Given the description of an element on the screen output the (x, y) to click on. 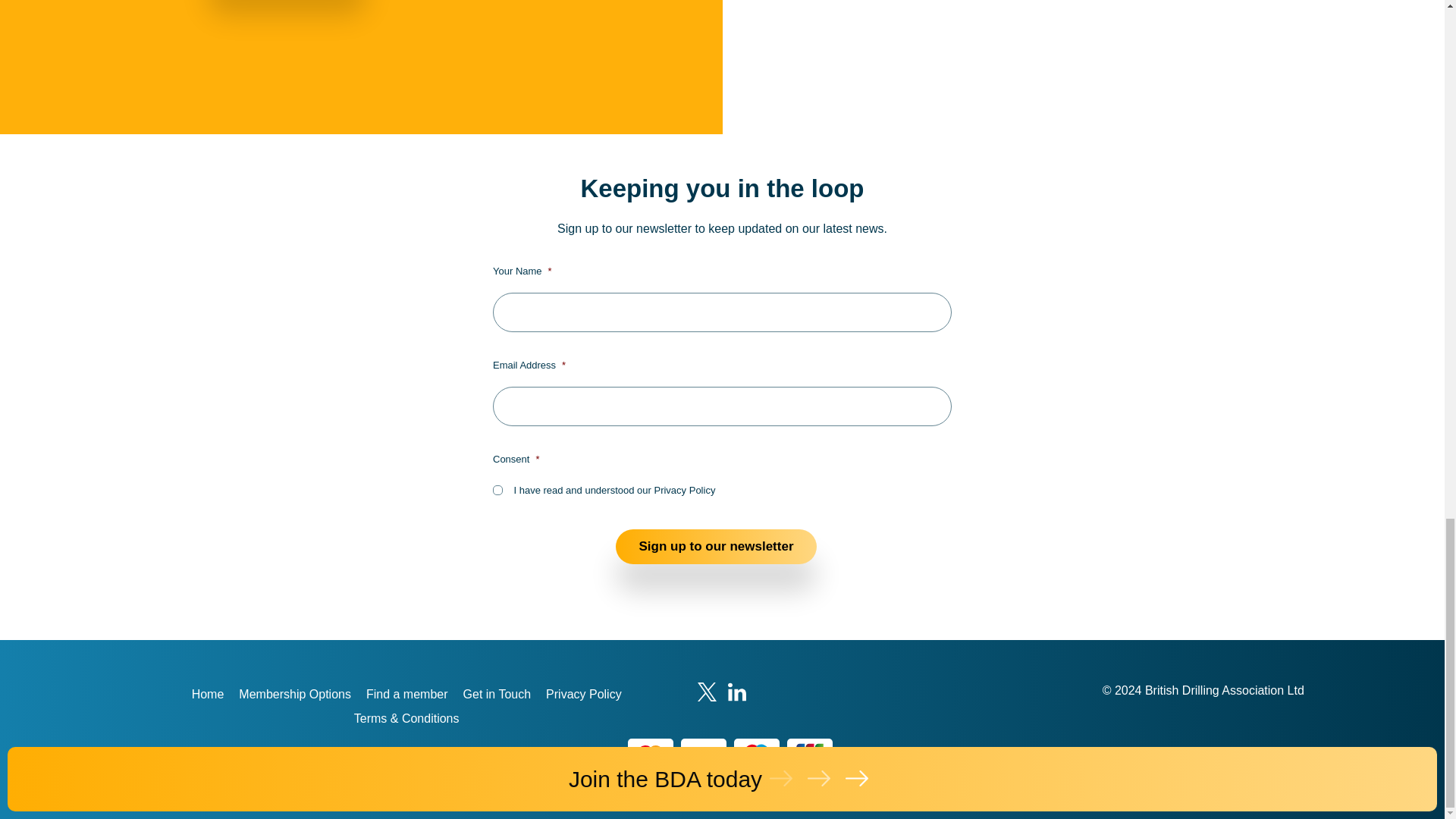
1 (497, 490)
Sign up to our newsletter (715, 545)
